Given the description of an element on the screen output the (x, y) to click on. 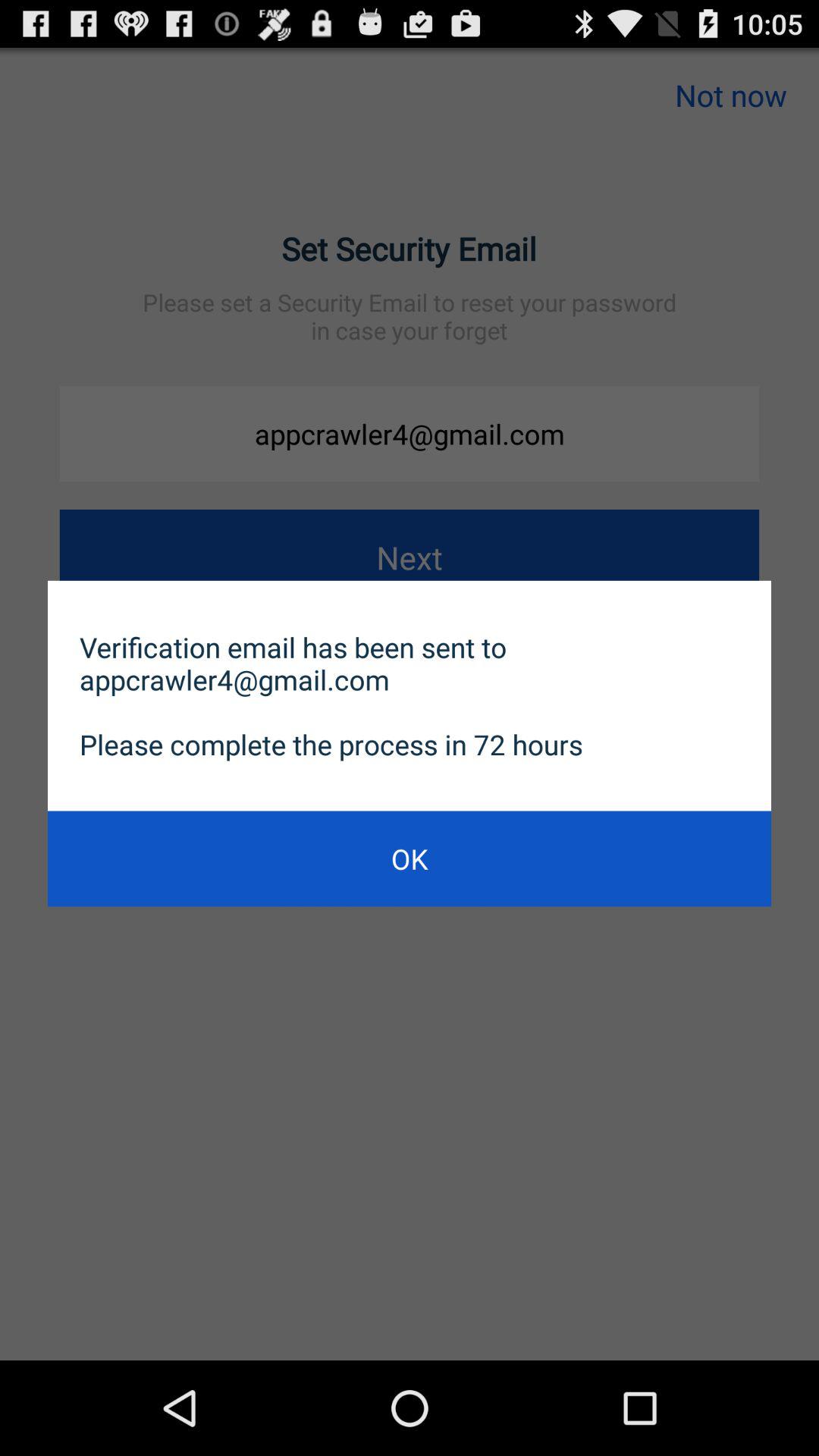
select the app below the verification email has (409, 858)
